Given the description of an element on the screen output the (x, y) to click on. 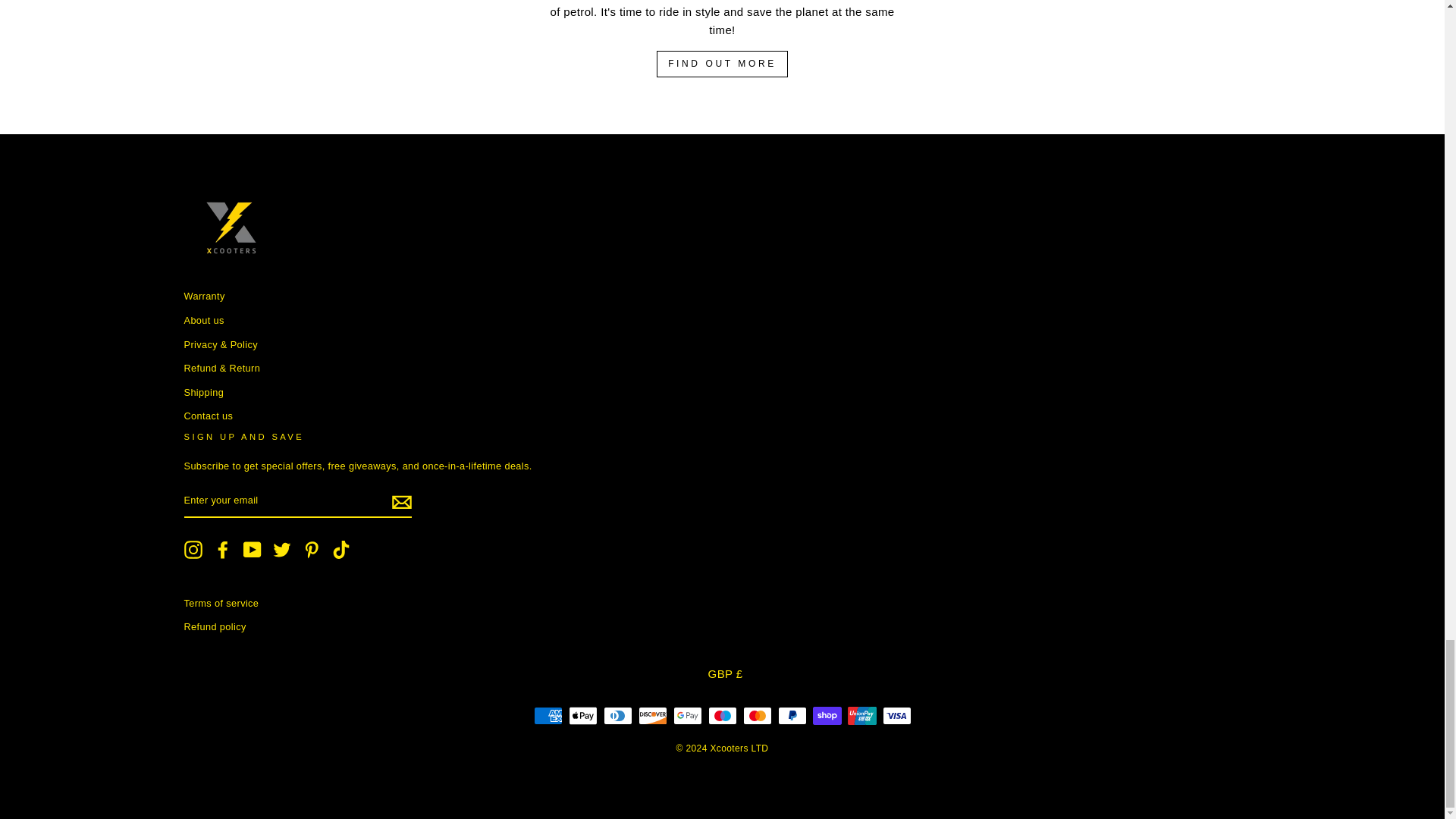
Xcooters on Instagram (192, 549)
Apple Pay (582, 715)
Diners Club (617, 715)
Xcooters on Facebook (222, 549)
Xcooters on Twitter (282, 549)
Xcooters on YouTube (251, 549)
Xcooters on Pinterest (310, 549)
American Express (548, 715)
Xcooters on TikTok (340, 549)
